Given the description of an element on the screen output the (x, y) to click on. 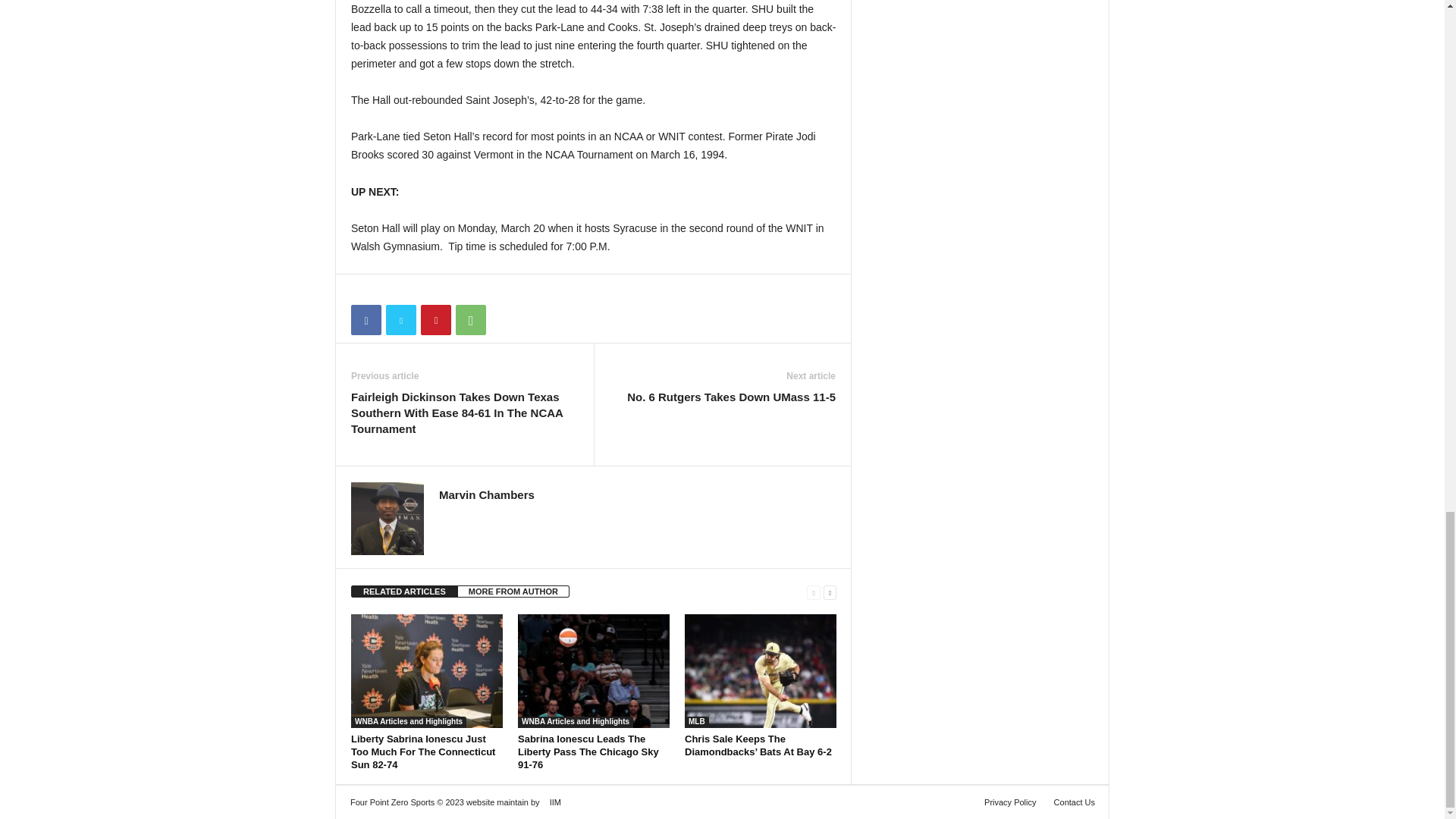
bottomFacebookLike (390, 289)
Facebook (365, 319)
Twitter (400, 319)
